Given the description of an element on the screen output the (x, y) to click on. 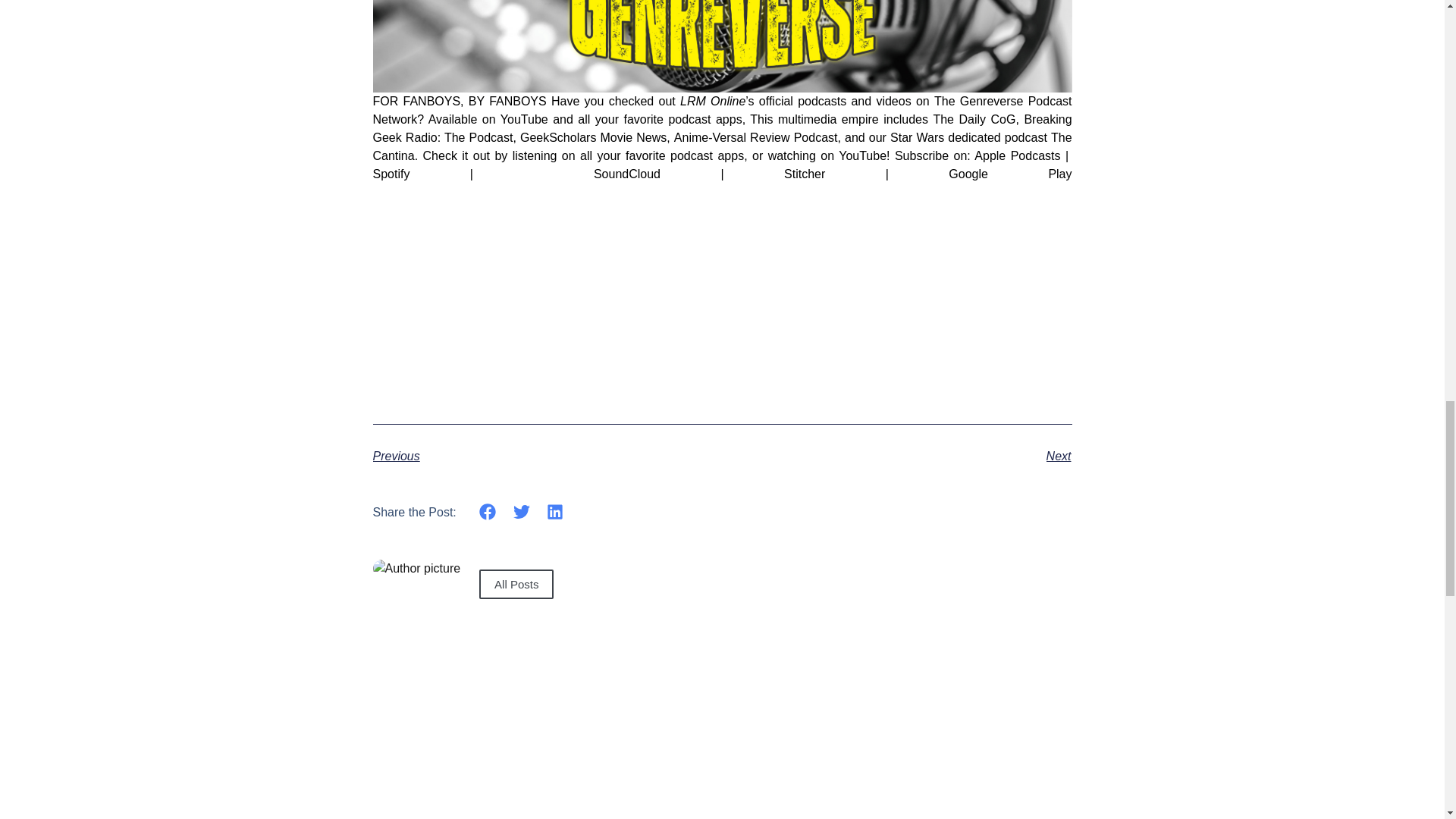
Apple Podcasts (1016, 155)
